Given the description of an element on the screen output the (x, y) to click on. 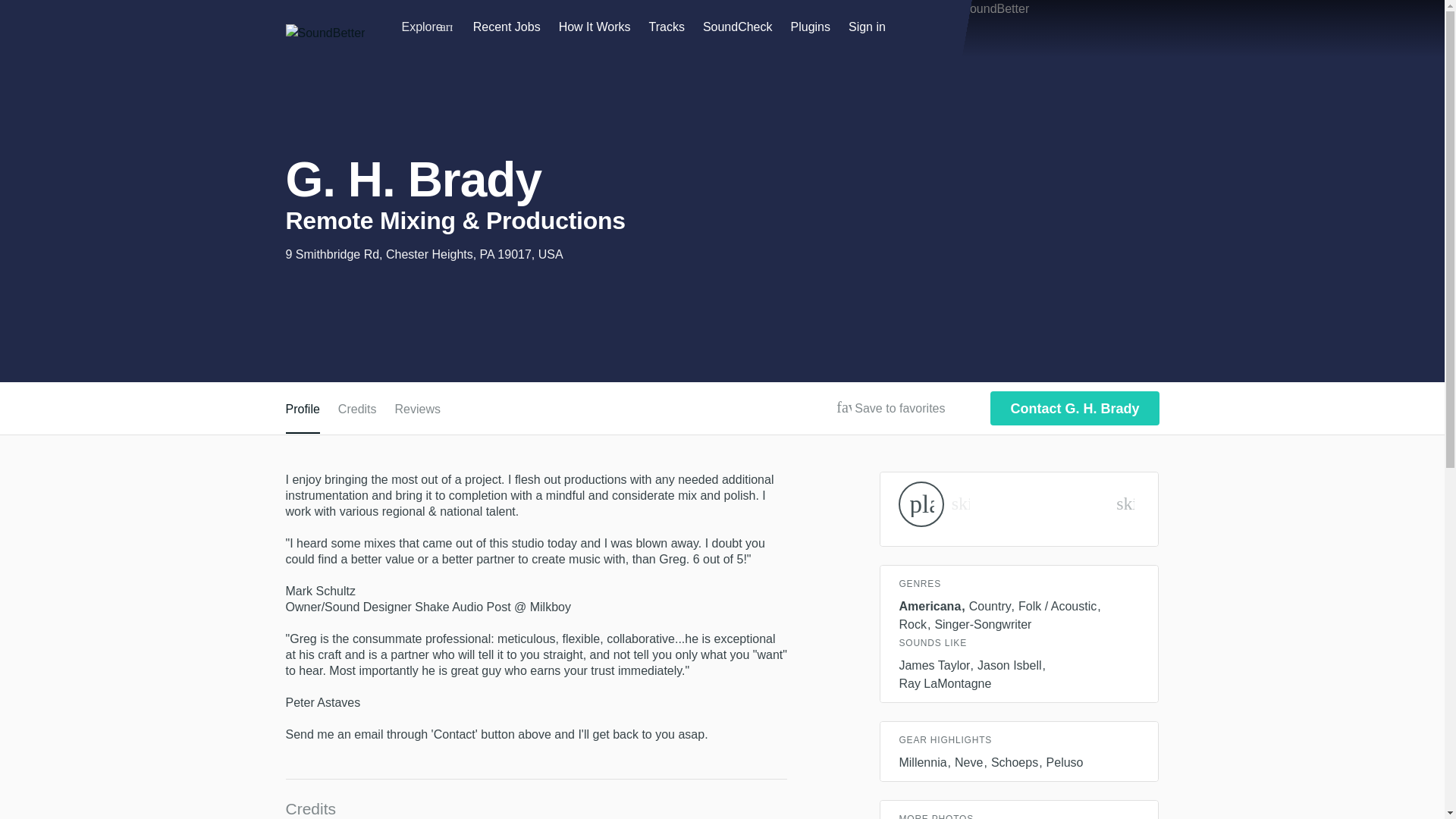
SoundBetter (325, 33)
Save to favorites (843, 407)
